Given the description of an element on the screen output the (x, y) to click on. 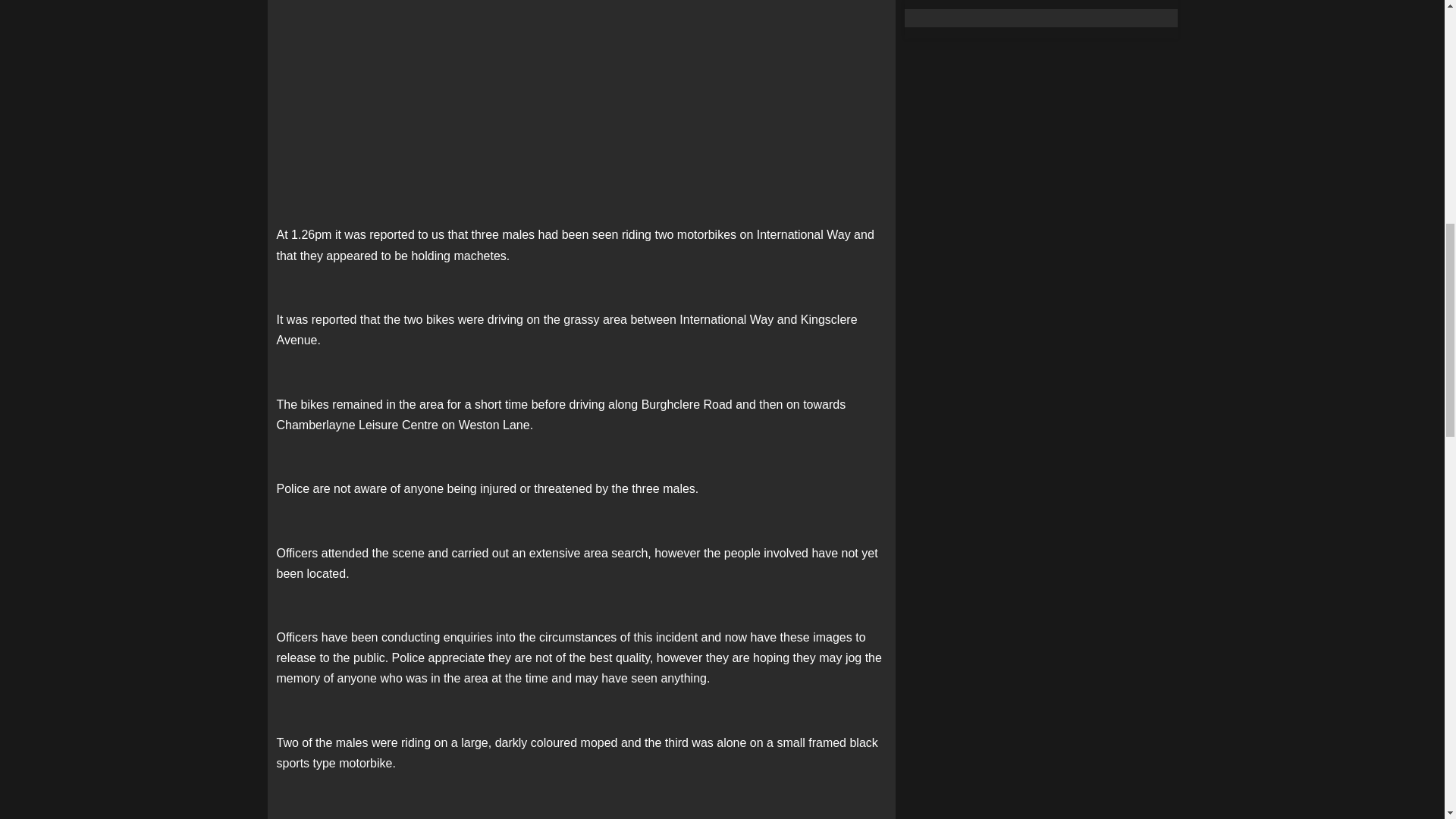
Advertisement (580, 78)
